Given the description of an element on the screen output the (x, y) to click on. 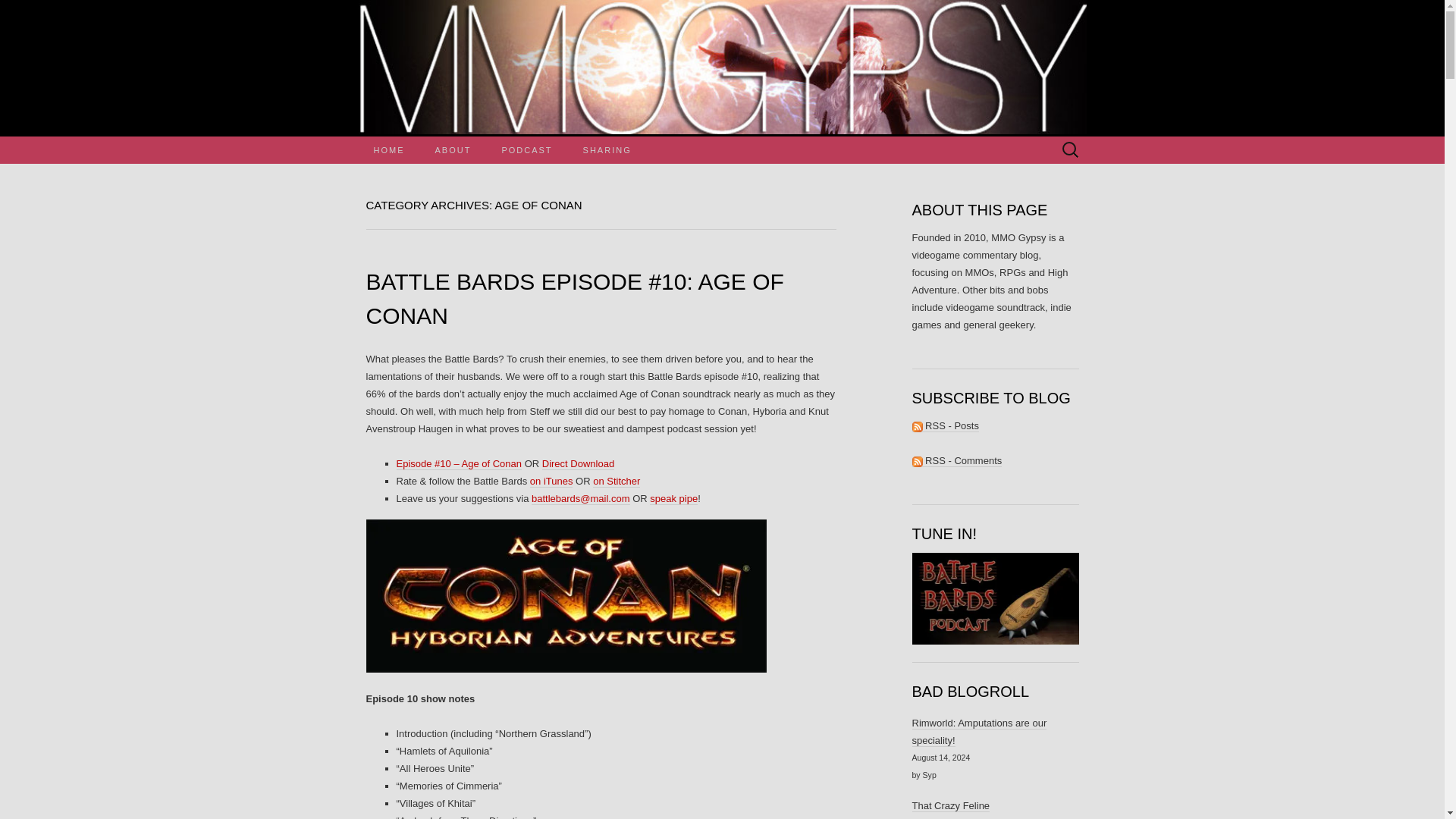
Search (16, 12)
HOME (388, 149)
ABOUT (453, 149)
on Stitcher (616, 481)
SHARING (606, 149)
PODCAST (526, 149)
Direct Download (577, 463)
on iTunes (551, 481)
MMO Gypsy (722, 68)
Subscribe to comments (956, 460)
